Given the description of an element on the screen output the (x, y) to click on. 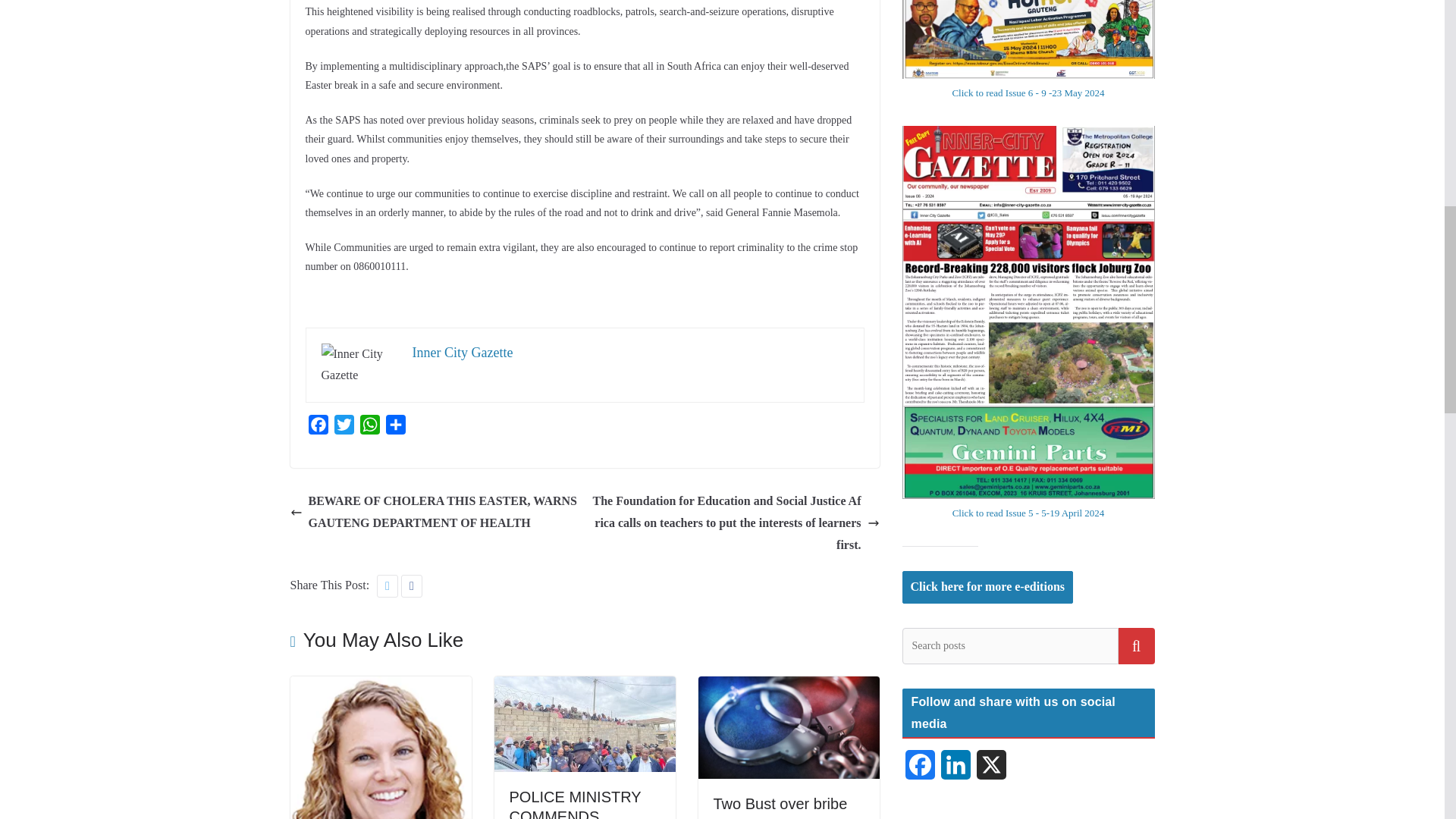
WhatsApp (368, 427)
Twitter (343, 427)
Two Bust over bribe (788, 686)
Share (394, 427)
Robot resources soon to be alongside HR (379, 686)
WhatsApp (368, 427)
Inner City Gazette (462, 352)
Facebook (317, 427)
Twitter (343, 427)
Facebook (317, 427)
